Given the description of an element on the screen output the (x, y) to click on. 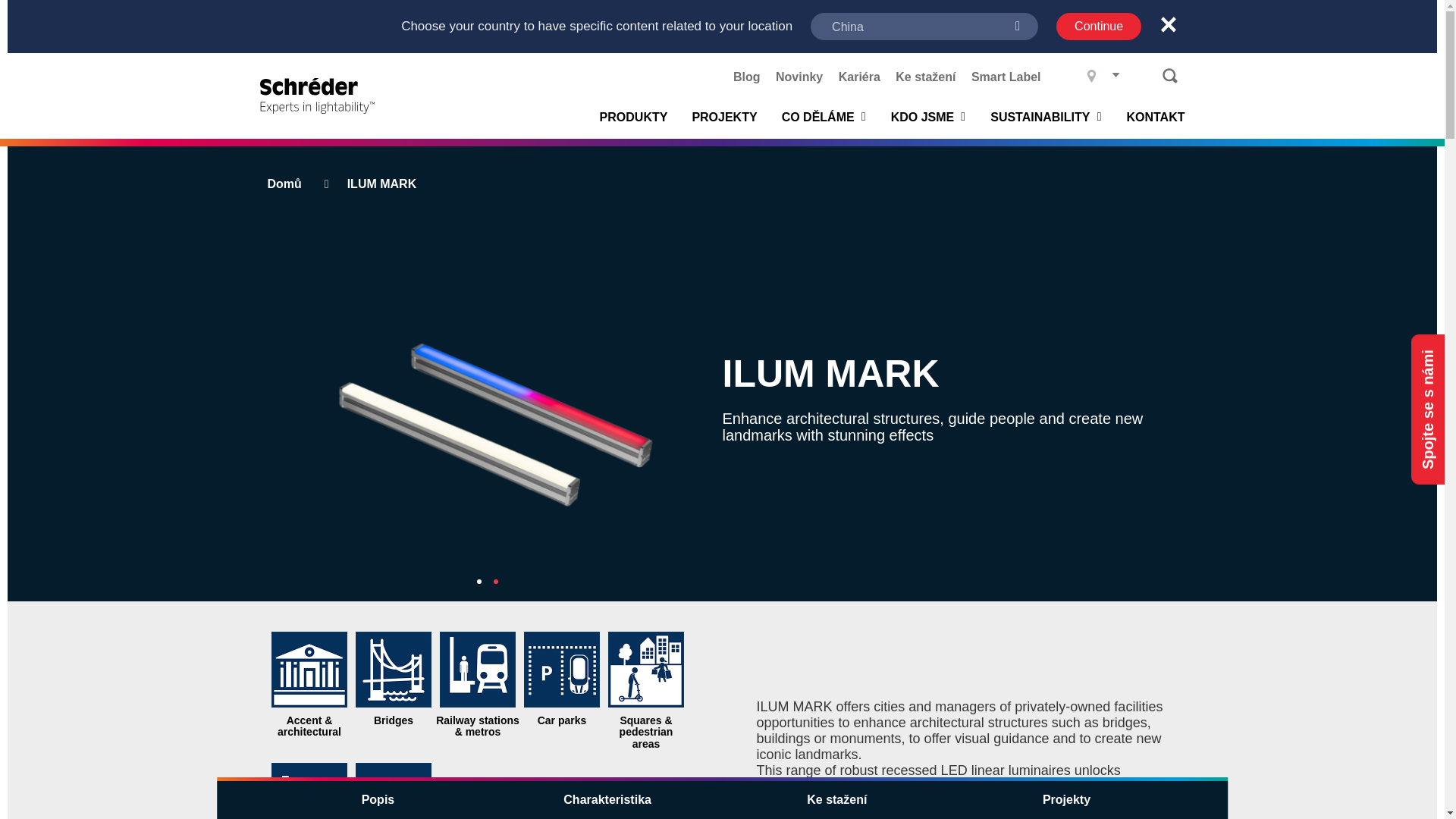
Choose language (1101, 74)
continue (1099, 26)
continue (1099, 26)
